Given the description of an element on the screen output the (x, y) to click on. 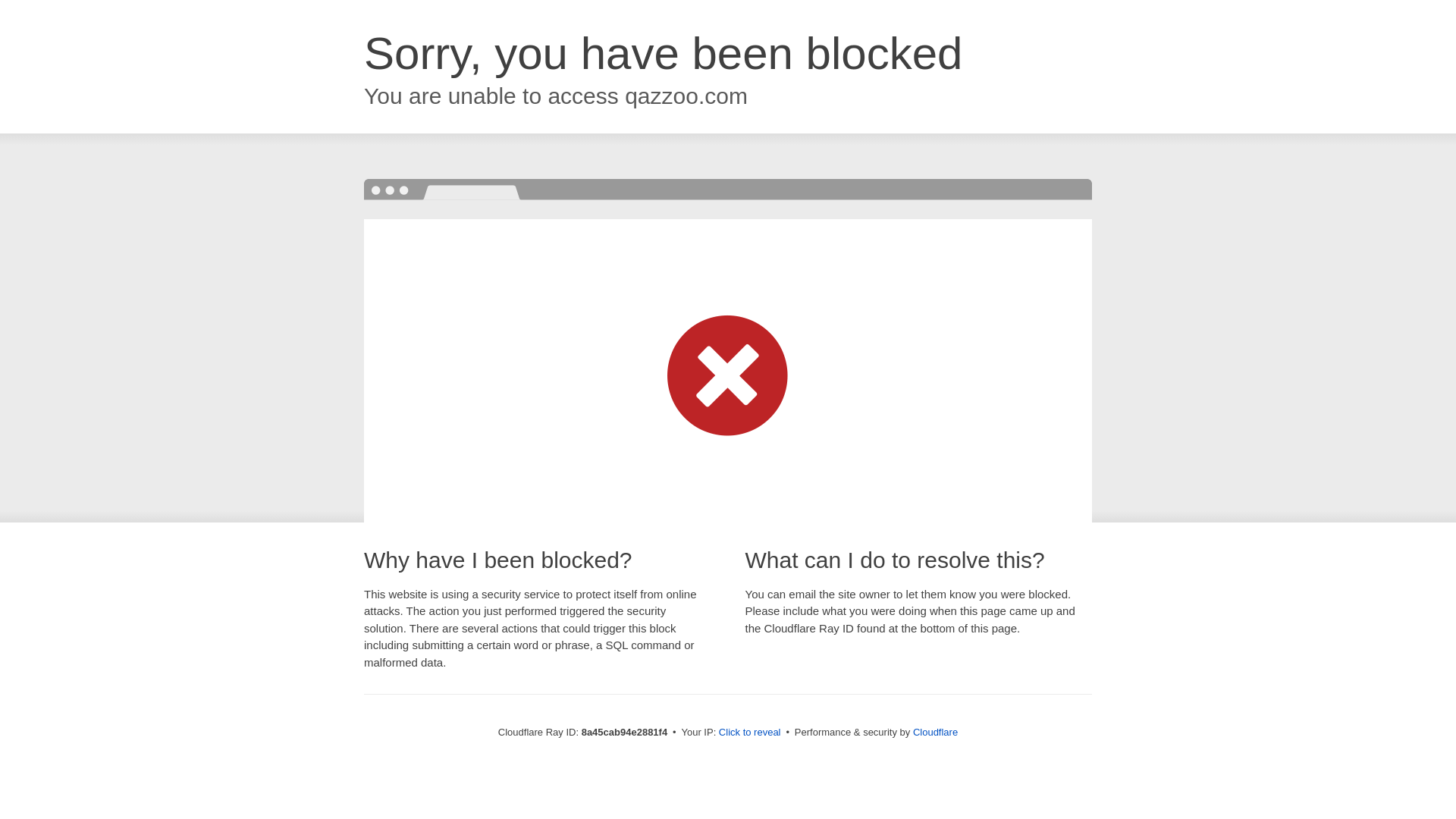
Cloudflare (935, 731)
Click to reveal (749, 732)
